Given the description of an element on the screen output the (x, y) to click on. 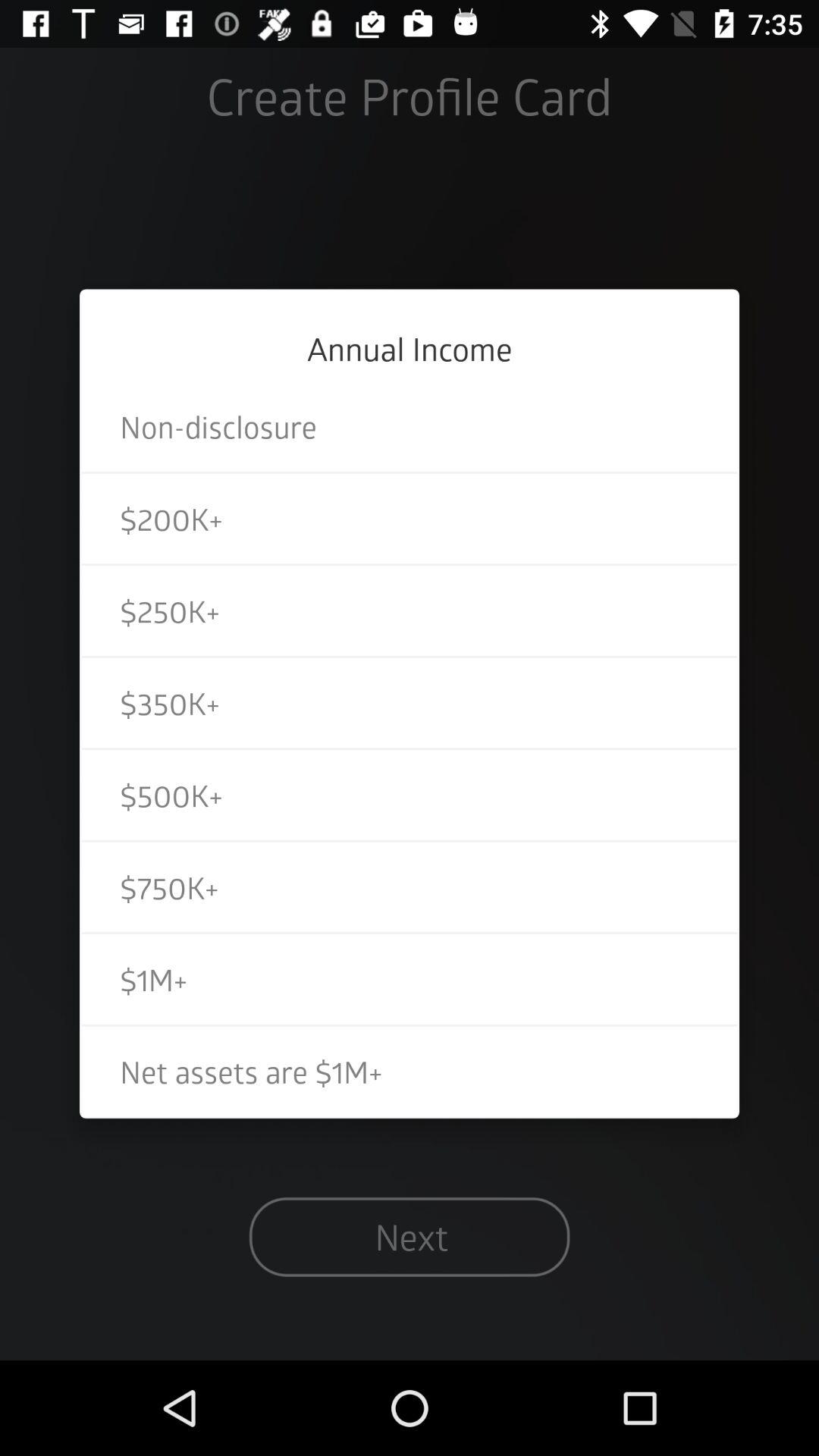
swipe to the $750k+ icon (409, 887)
